Given the description of an element on the screen output the (x, y) to click on. 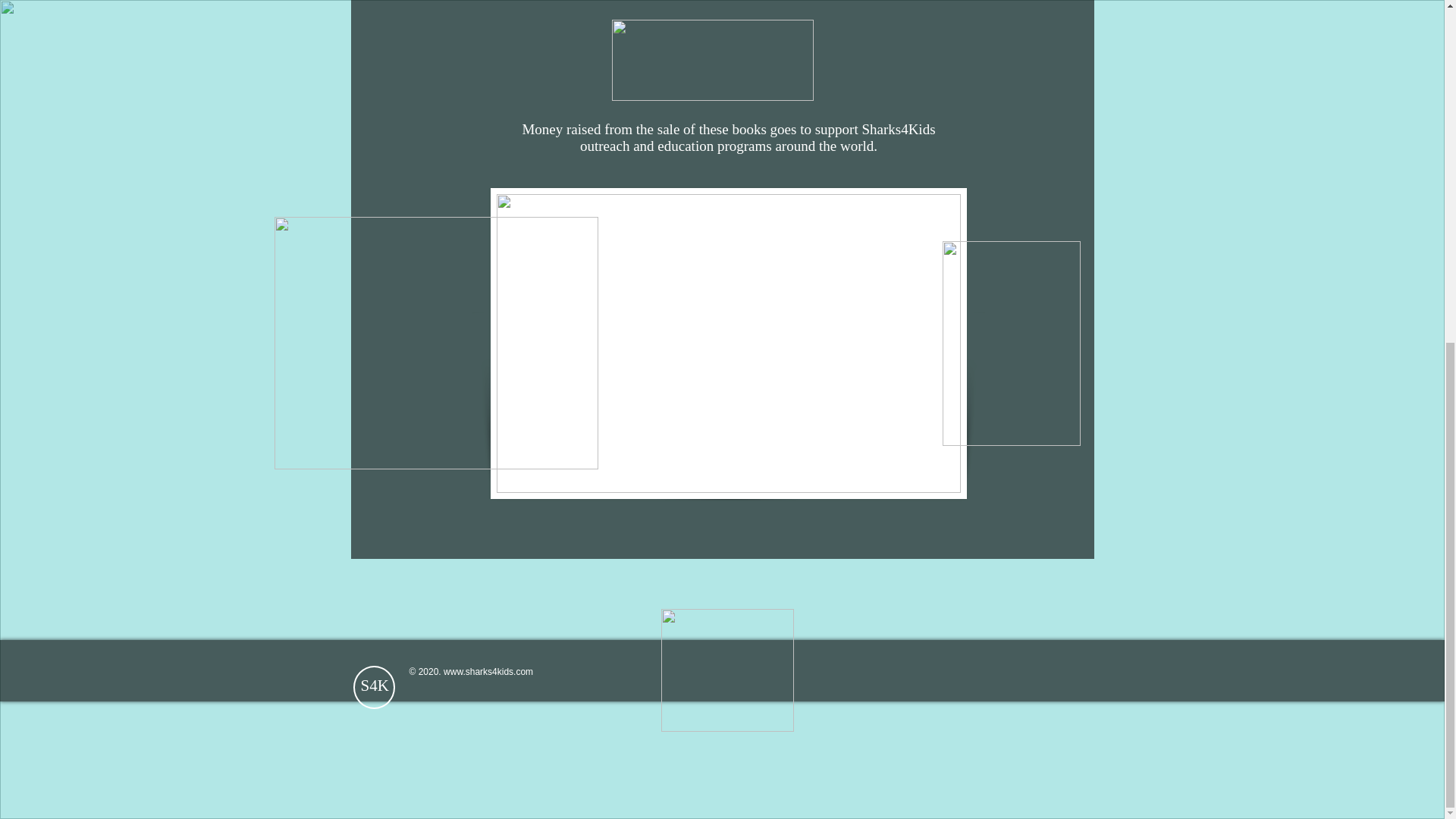
www.sharks4kids.com (488, 671)
S4K (374, 685)
